Given the description of an element on the screen output the (x, y) to click on. 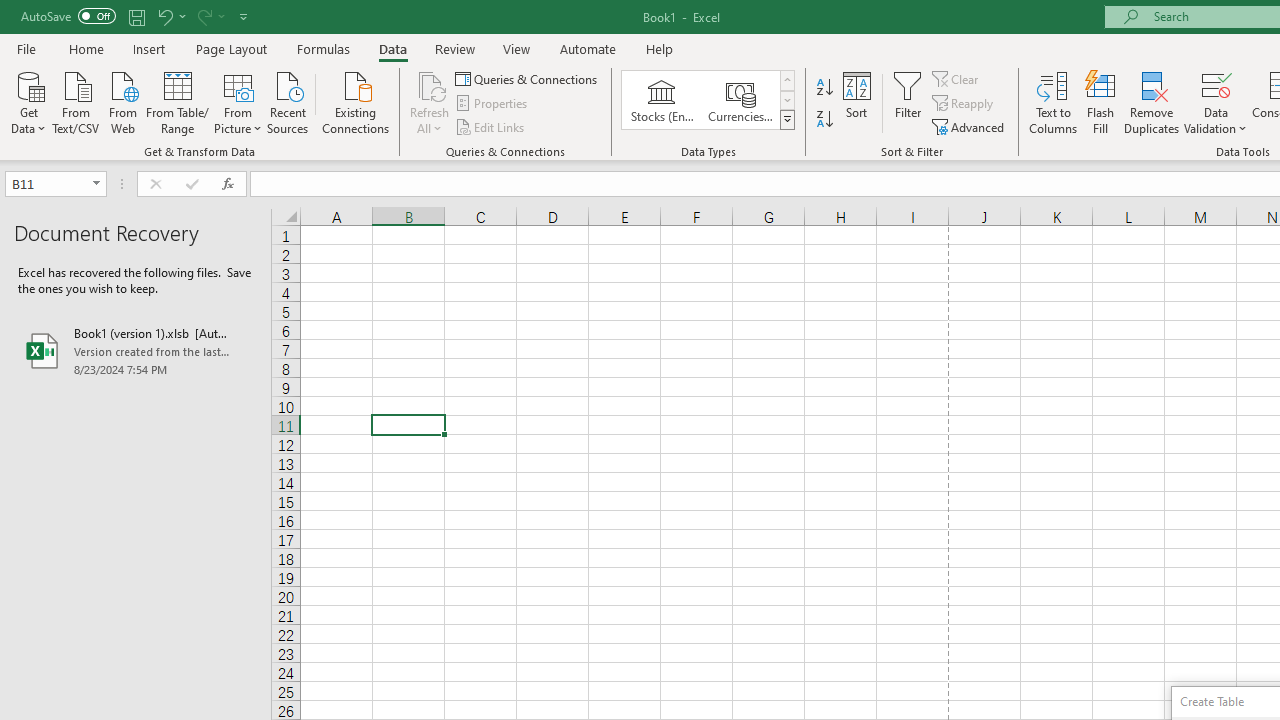
Flash Fill (1101, 102)
From Web (122, 101)
Edit Links (491, 126)
Recent Sources (287, 101)
Queries & Connections (527, 78)
Get Data (28, 101)
Reapply (964, 103)
AutomationID: ConvertToLinkedEntity (708, 99)
